Given the description of an element on the screen output the (x, y) to click on. 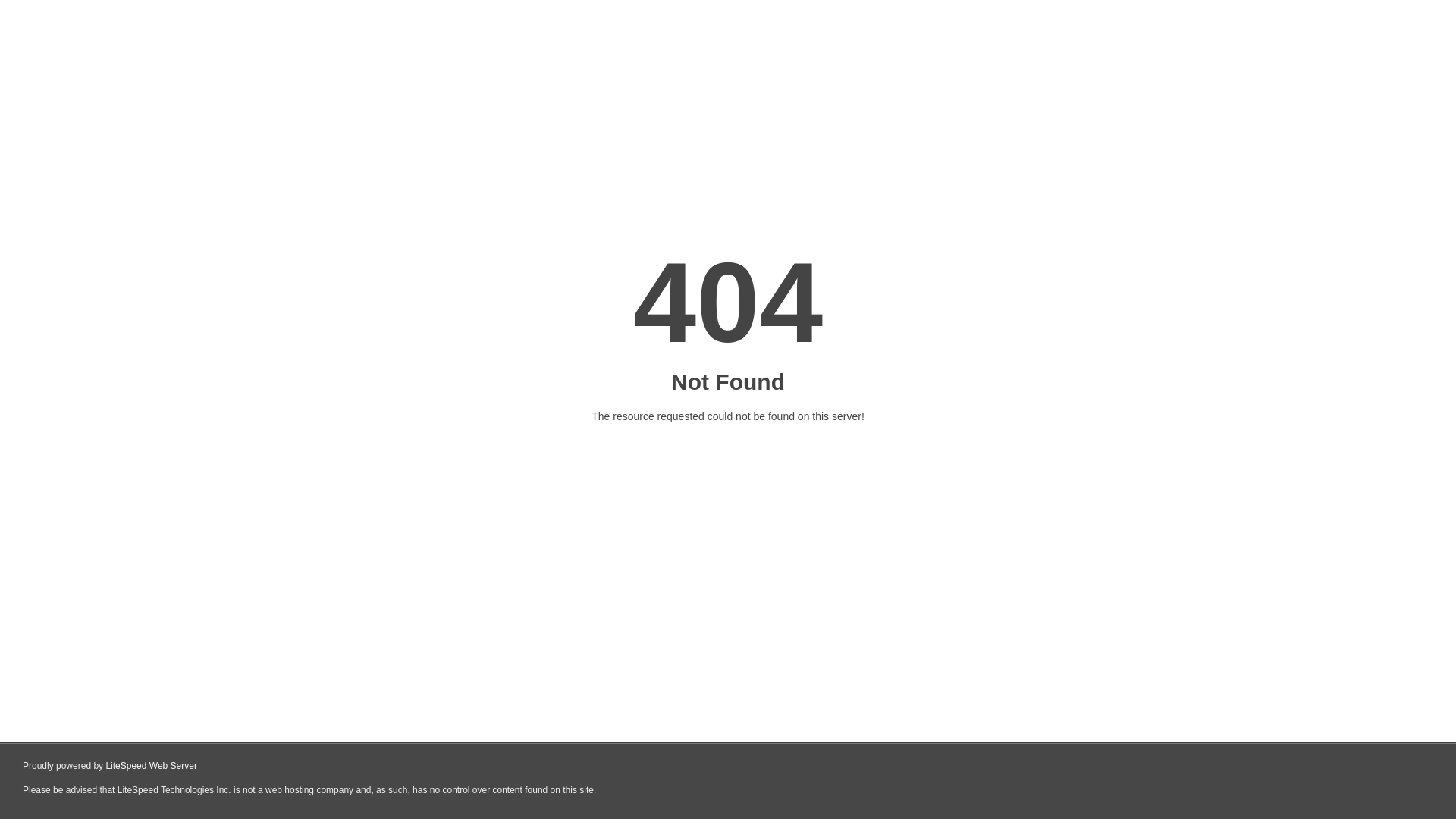
LiteSpeed Web Server Element type: text (151, 765)
